Given the description of an element on the screen output the (x, y) to click on. 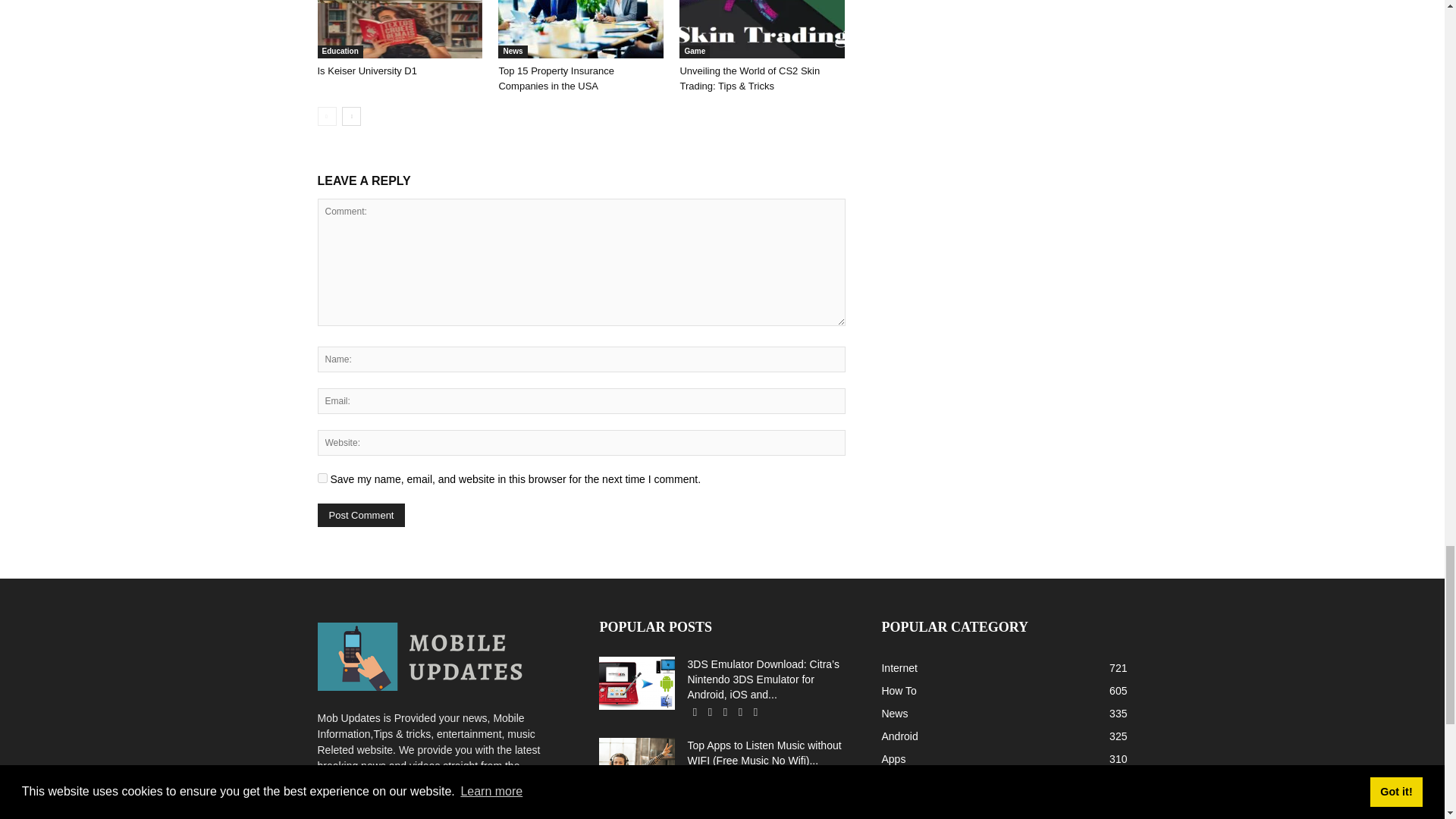
Post Comment (360, 515)
yes (321, 478)
